Given the description of an element on the screen output the (x, y) to click on. 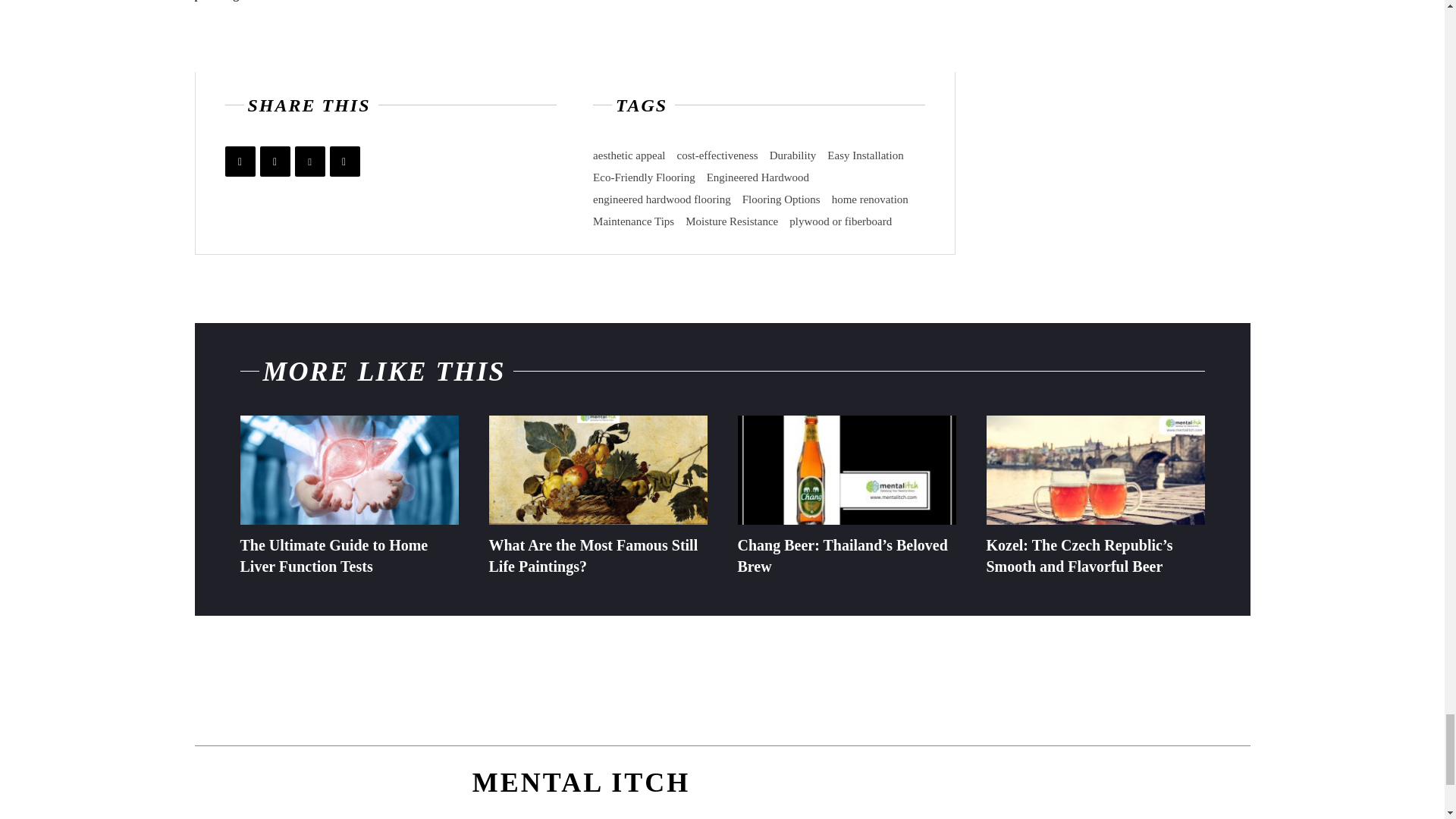
Pinterest (309, 161)
Mix (344, 161)
Twitter (274, 161)
Facebook (239, 161)
